Given the description of an element on the screen output the (x, y) to click on. 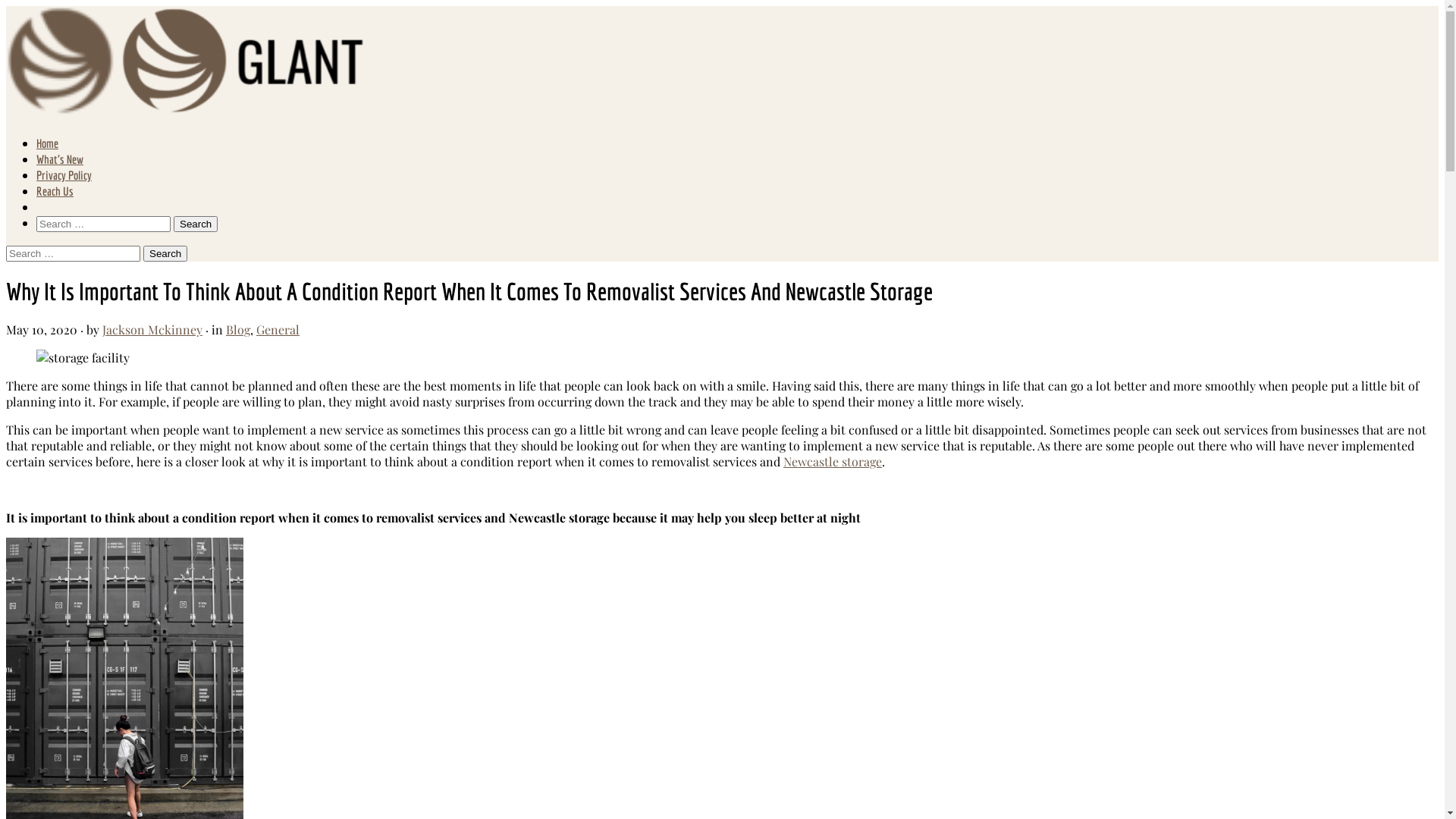
Blog Element type: text (237, 329)
What's New Element type: text (59, 159)
Home Element type: text (47, 143)
Privacy Policy Element type: text (63, 175)
Jackson Mckinney Element type: text (152, 329)
Search Element type: text (195, 224)
Newcastle storage Element type: text (832, 461)
Glant Element type: hover (186, 114)
Search Element type: text (165, 253)
General Element type: text (277, 329)
Reach Us Element type: text (54, 190)
